Given the description of an element on the screen output the (x, y) to click on. 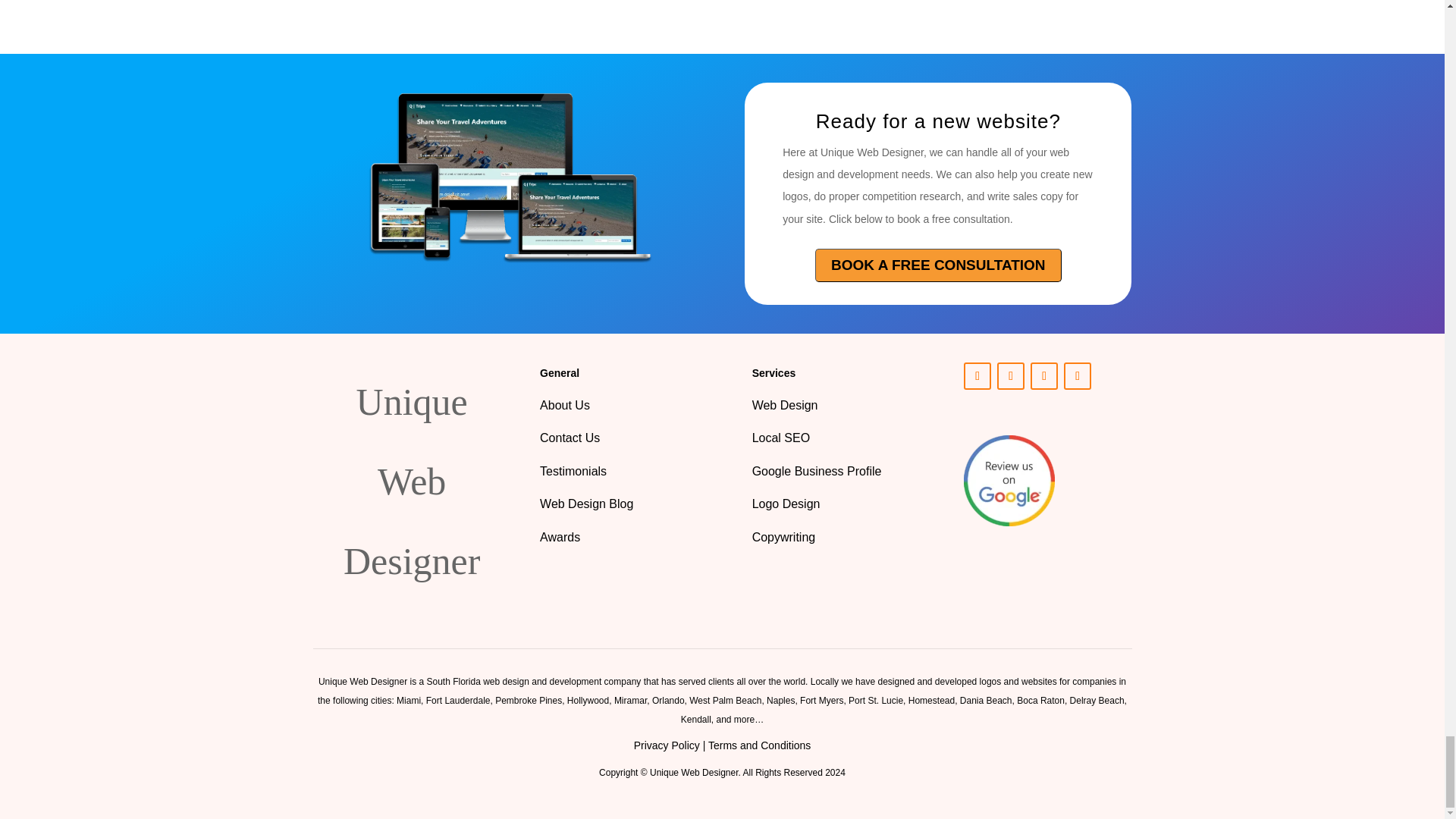
Follow on Instagram (1044, 375)
Follow on Facebook (1077, 375)
BOOK A FREE CONSULTATION (938, 264)
Follow on LinkedIn (977, 375)
Contact Us  (572, 437)
About Us (564, 404)
Logo Design (786, 503)
Google-Review-Icon12312 (1008, 480)
mockup12 (505, 181)
Follow on X (1011, 375)
